Given the description of an element on the screen output the (x, y) to click on. 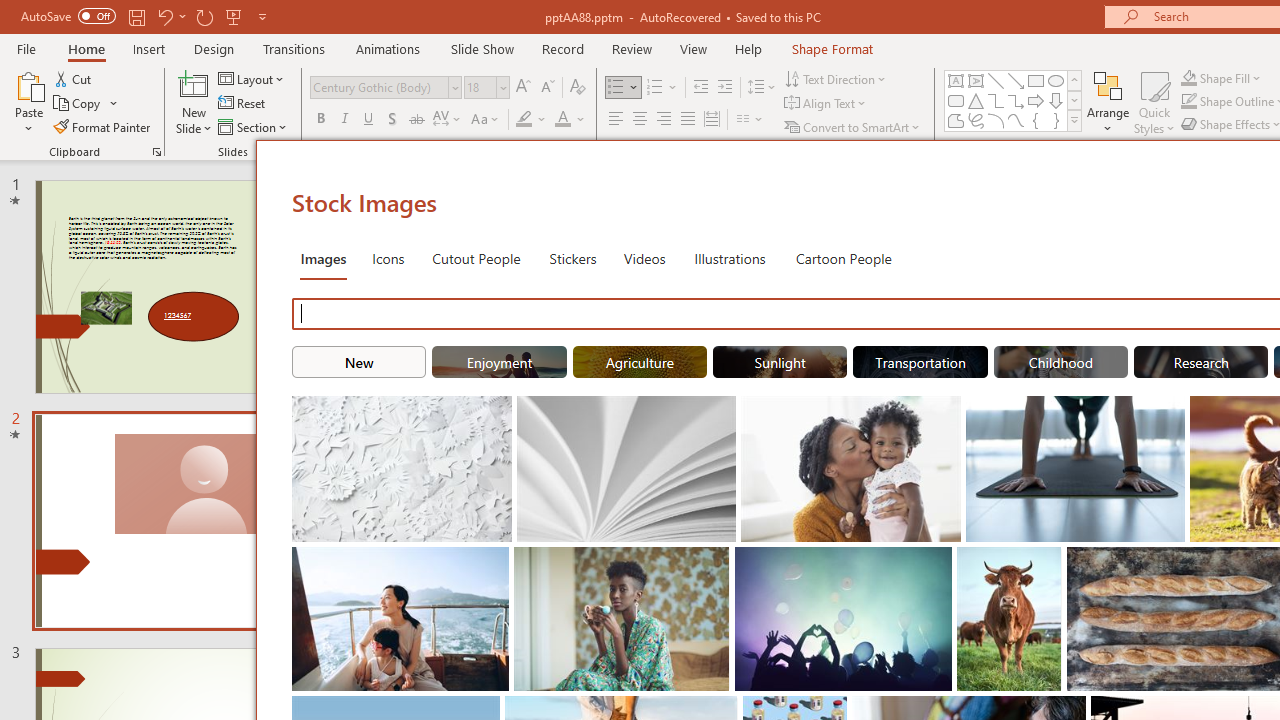
Cartoon People (843, 258)
Illustrations (729, 258)
